Given the description of an element on the screen output the (x, y) to click on. 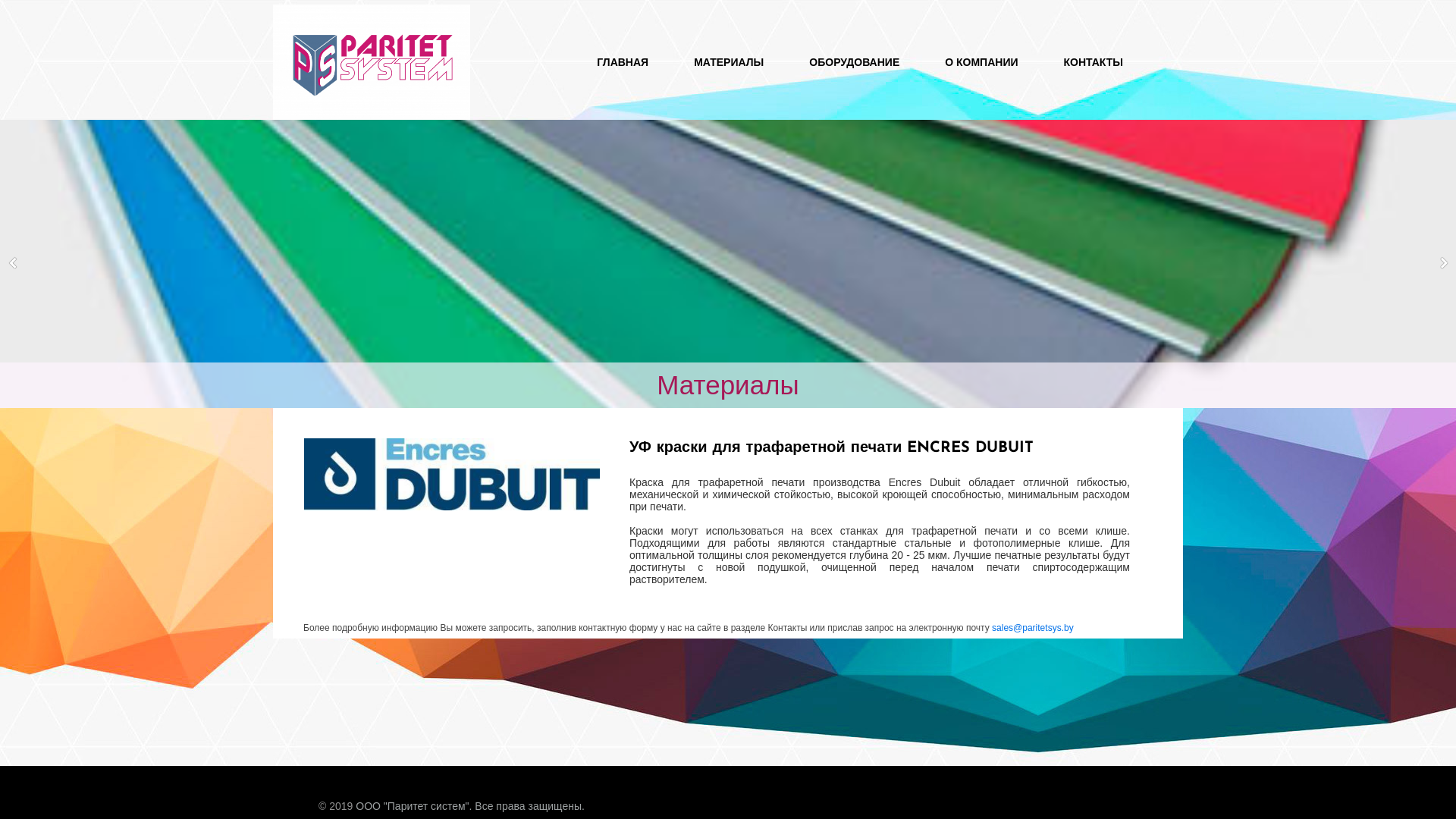
sales@paritetsys.by Element type: text (1032, 627)
